Given the description of an element on the screen output the (x, y) to click on. 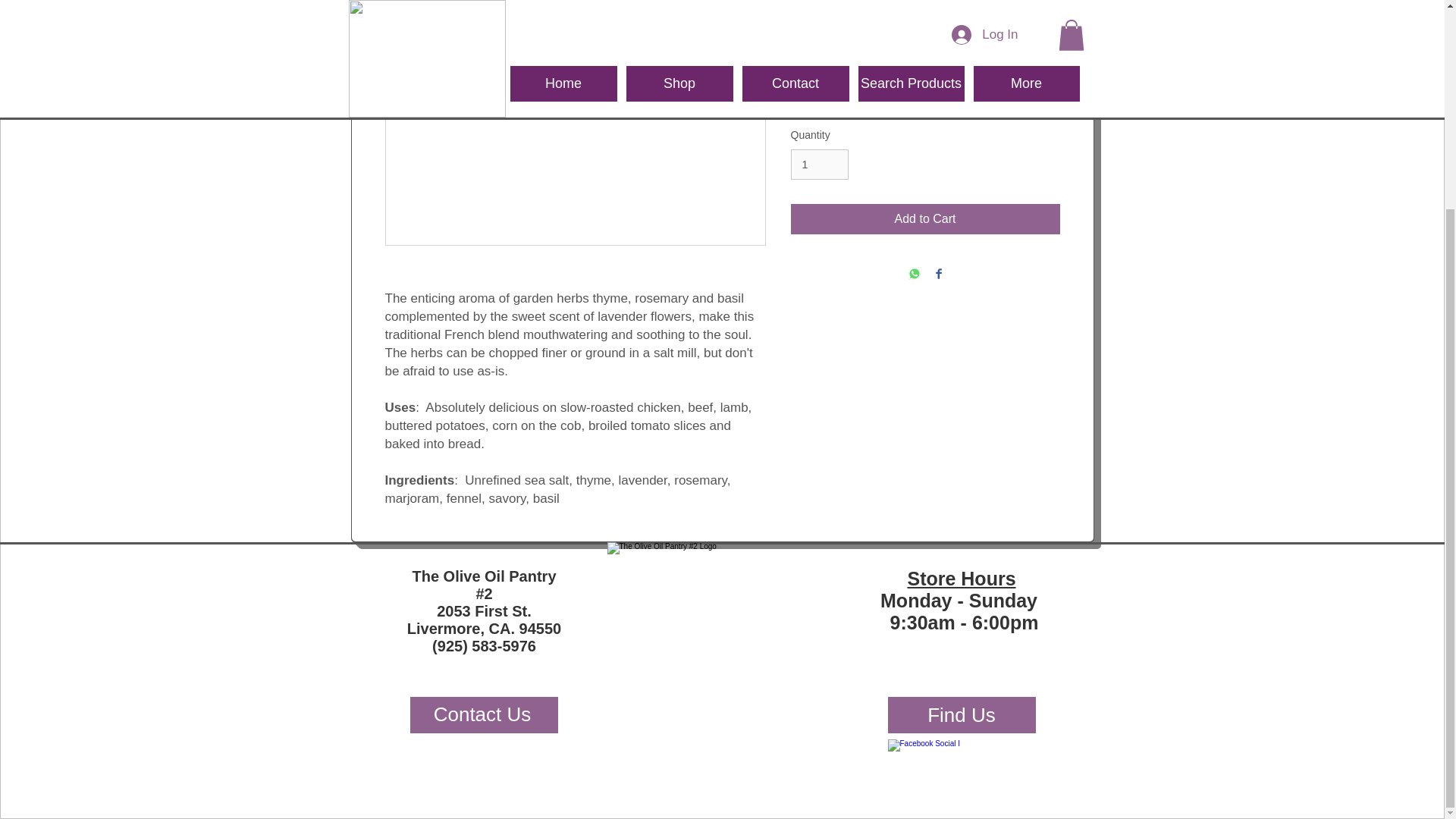
Find Us (960, 714)
Add to Cart (924, 218)
1 (818, 164)
Facebook Like (1015, 753)
Contact Us (483, 714)
